Given the description of an element on the screen output the (x, y) to click on. 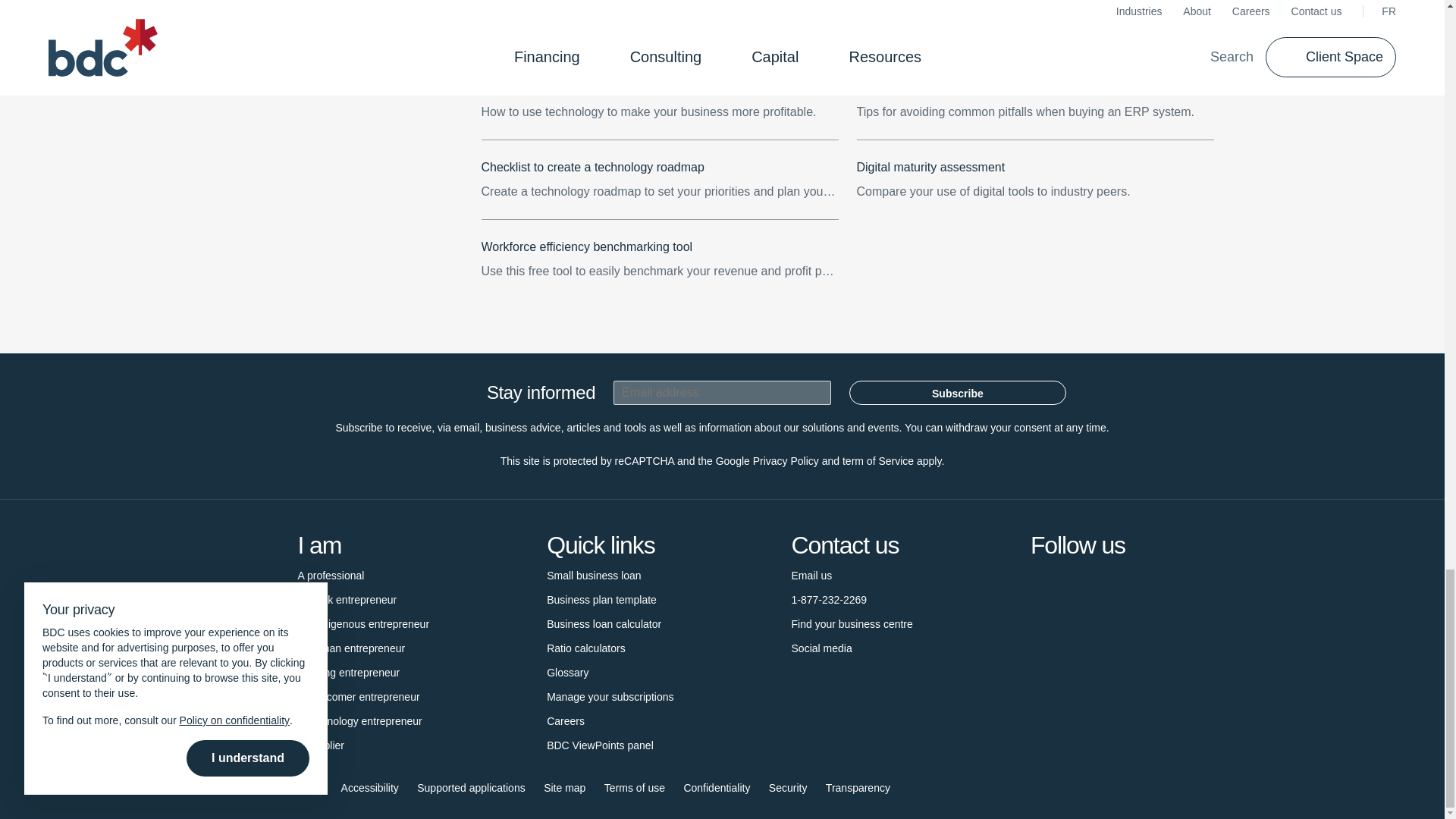
Indigenous entrepreneur (363, 623)
Black Entrepreneur (346, 599)
Newcomer entrepreneur (358, 696)
Small business loan (594, 575)
Woman entrepreneur (350, 648)
Young entrepreneur (347, 672)
Technology (359, 721)
Professional (330, 575)
Supplier (320, 745)
